Given the description of an element on the screen output the (x, y) to click on. 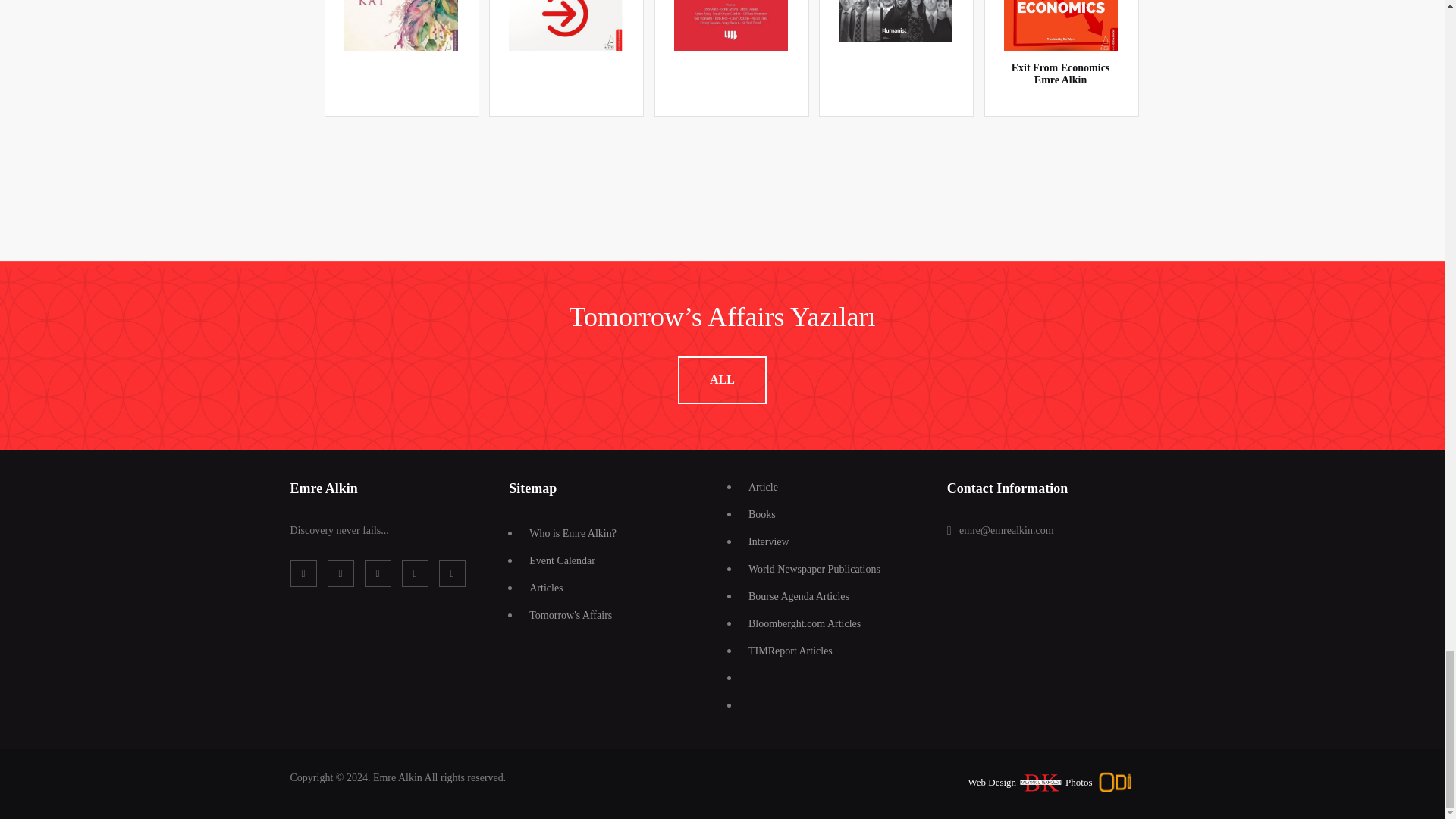
Twitter (340, 573)
Linkedin (377, 573)
Facebook (302, 573)
